Given the description of an element on the screen output the (x, y) to click on. 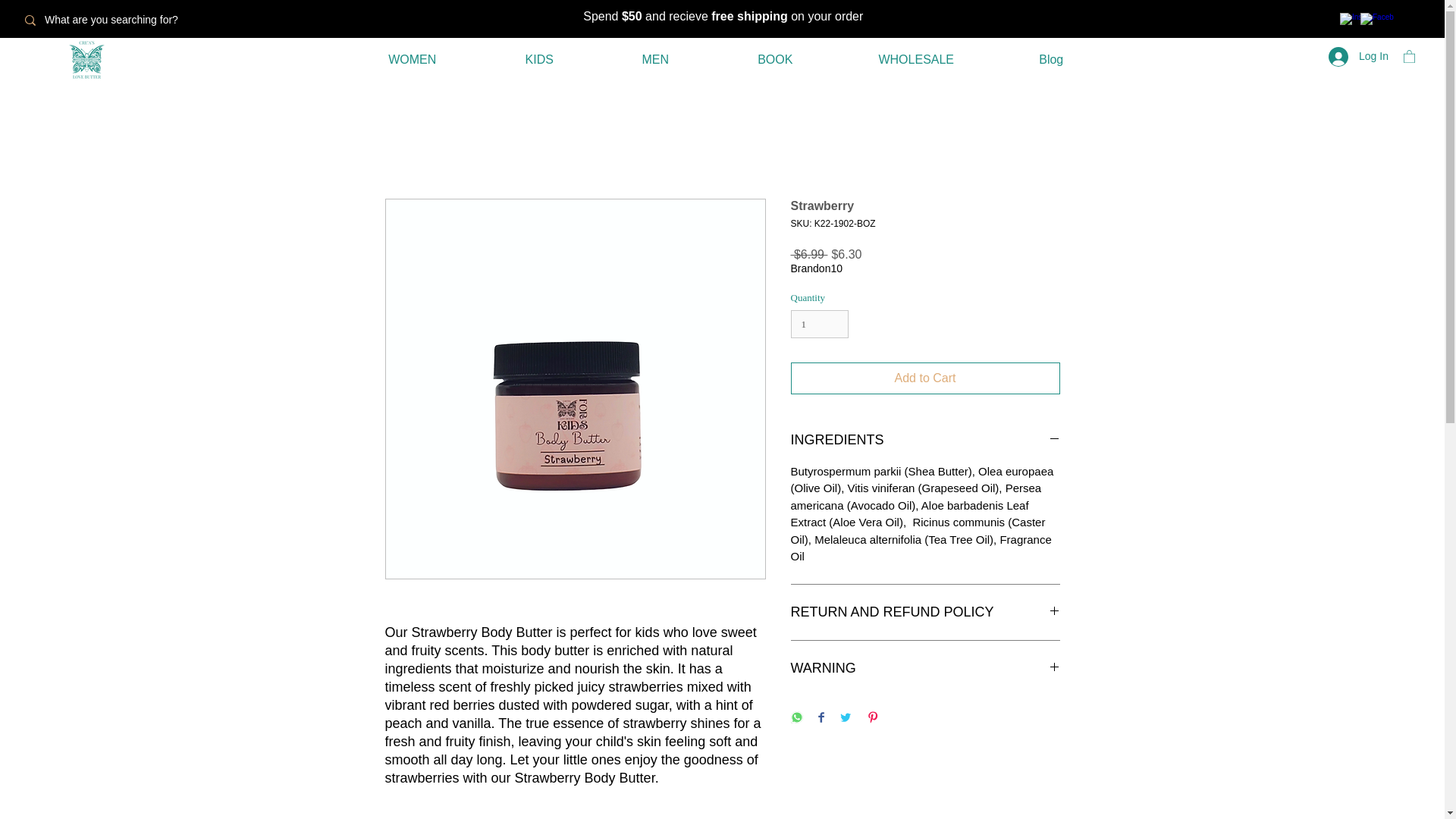
INGREDIENTS (924, 439)
KIDS (538, 59)
WOMEN (412, 59)
1 (818, 324)
BOOK (775, 59)
Add to Cart (924, 377)
RETURN AND REFUND POLICY (924, 611)
WHOLESALE (916, 59)
MEN (654, 59)
Blog (1050, 59)
